Given the description of an element on the screen output the (x, y) to click on. 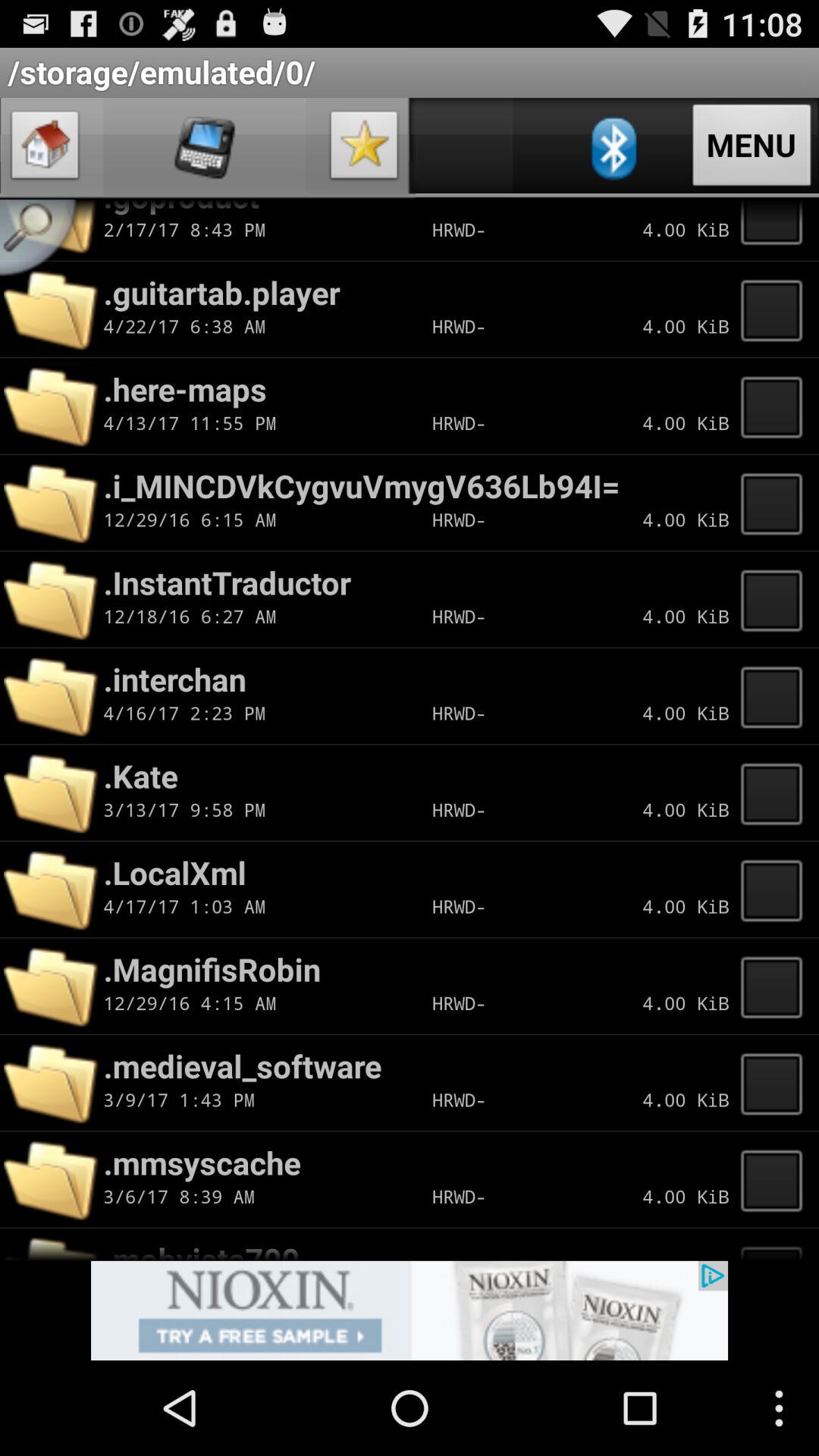
empty box option (776, 405)
